Given the description of an element on the screen output the (x, y) to click on. 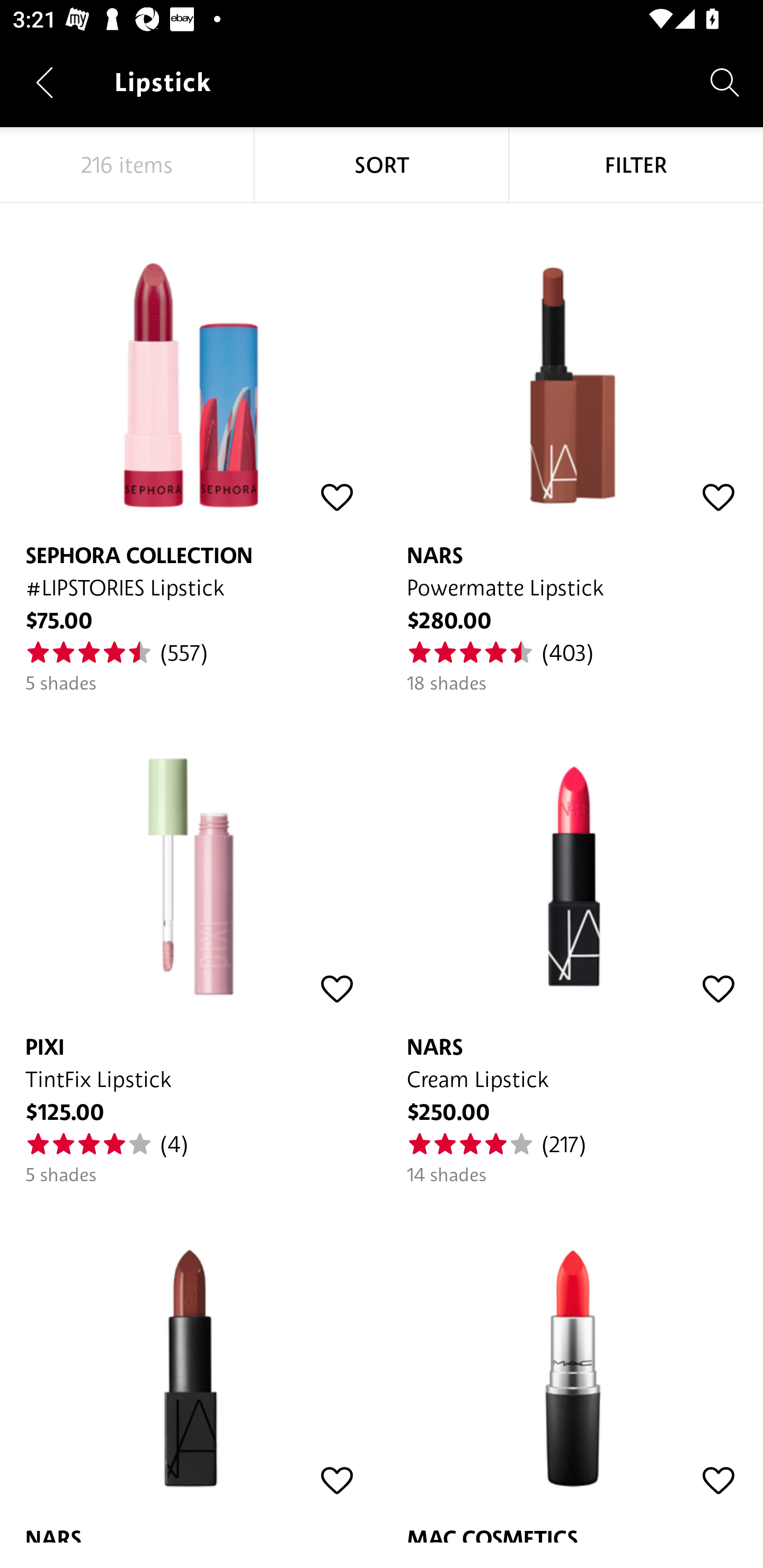
Navigate up (44, 82)
Search (724, 81)
SORT (381, 165)
FILTER (636, 165)
NARS Powermatte Lipstick $280.00 (403) 18 shades (571, 448)
PIXI TintFix Lipstick $125.00 (4) 5 shades (190, 940)
NARS Cream Lipstick $250.00 (217) 14 shades (571, 940)
NARS Audacious Lipstick (190, 1364)
MAC COSMETICS Matte Lipstick (571, 1364)
